Given the description of an element on the screen output the (x, y) to click on. 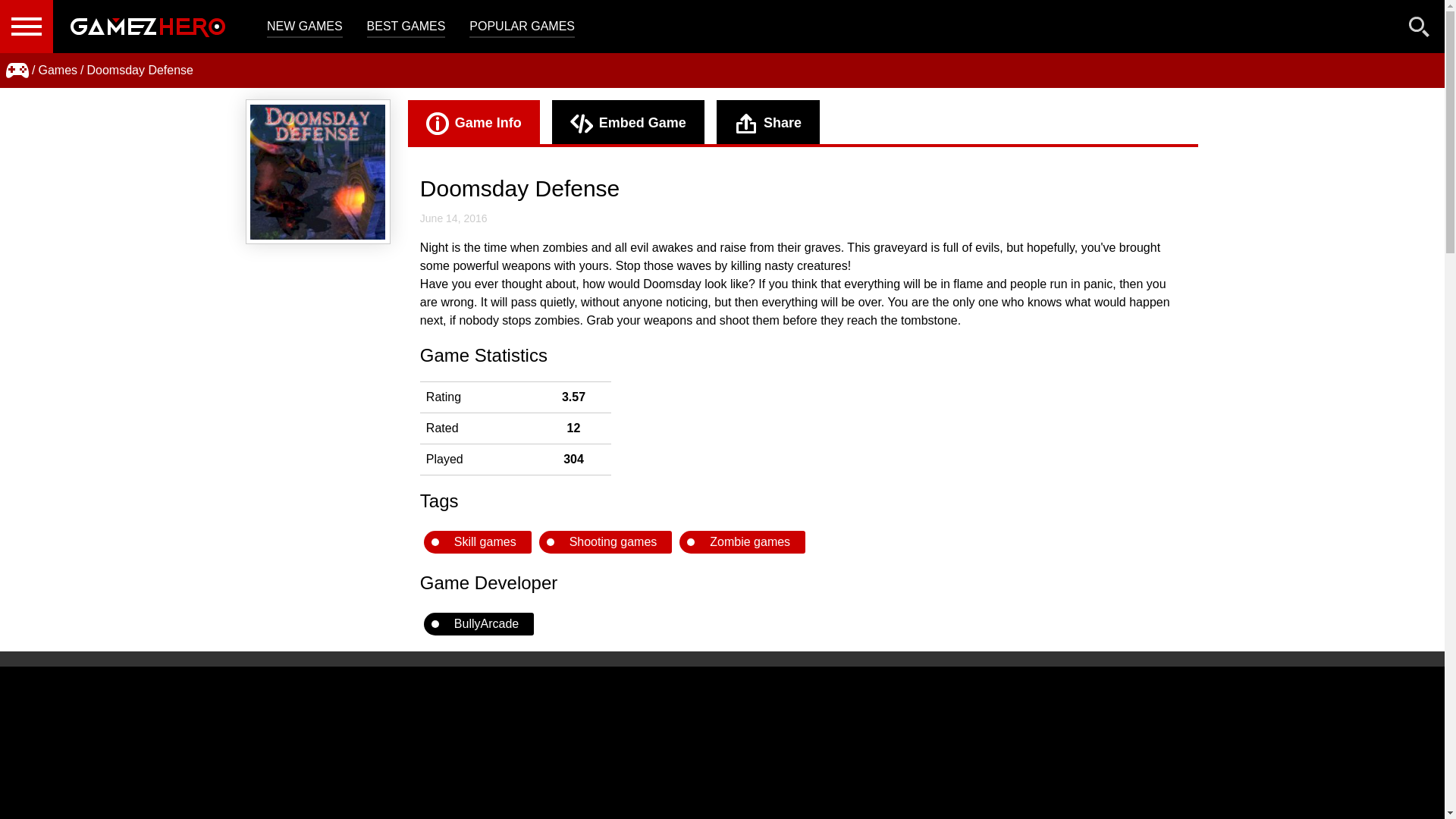
Gamezhero.com - Free Online Games. Play Free Games Online. (147, 26)
BEST GAMES (405, 27)
Gamezhero.com - Free Online Games. Play Free Games Online. (147, 26)
POPULAR GAMES (521, 27)
Popular Games (521, 27)
Best Games (405, 27)
NEW GAMES (304, 27)
New Games (304, 27)
